Given the description of an element on the screen output the (x, y) to click on. 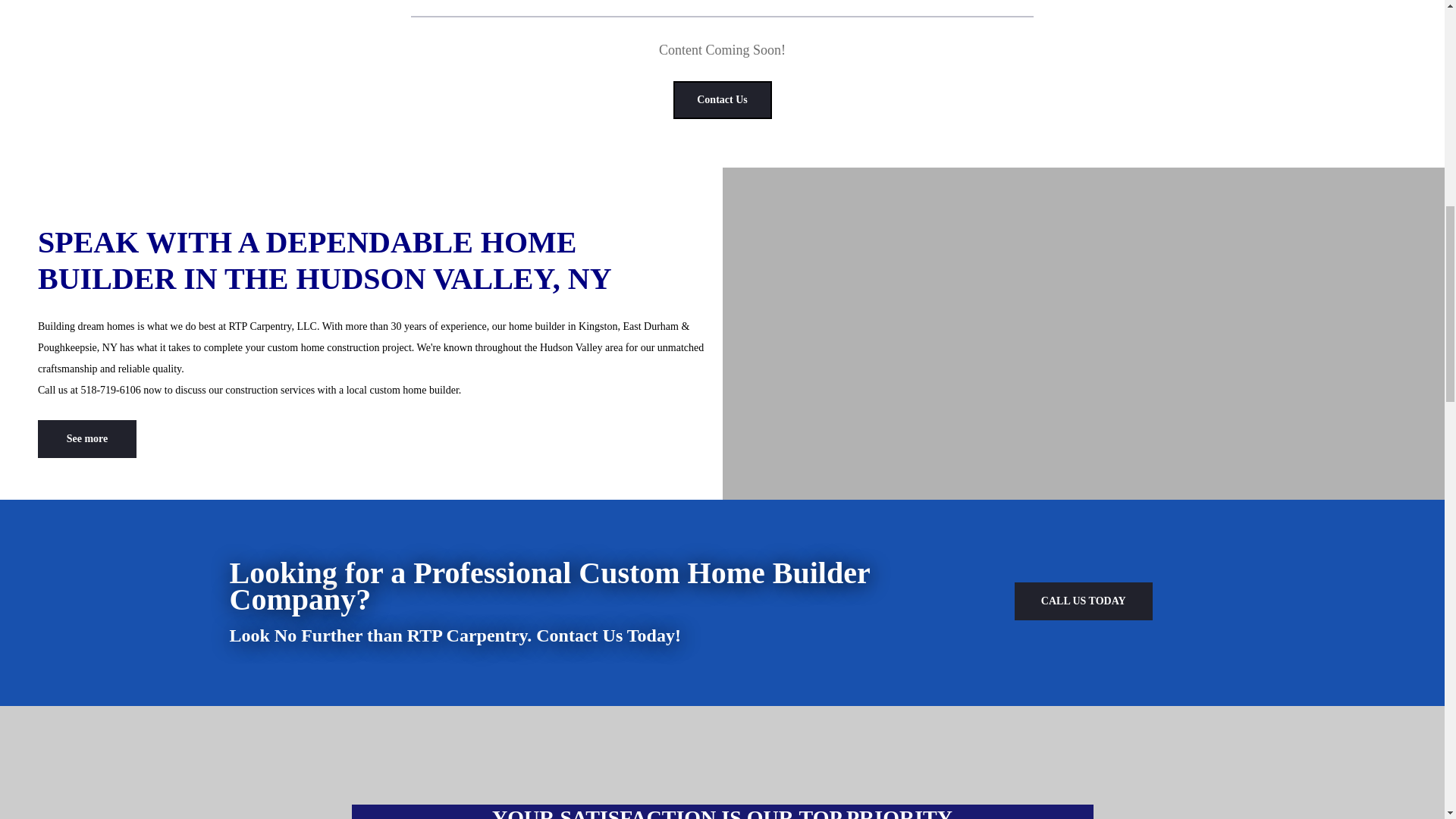
See more (86, 438)
CALL US TODAY (1083, 600)
Contact Us (721, 99)
